Given the description of an element on the screen output the (x, y) to click on. 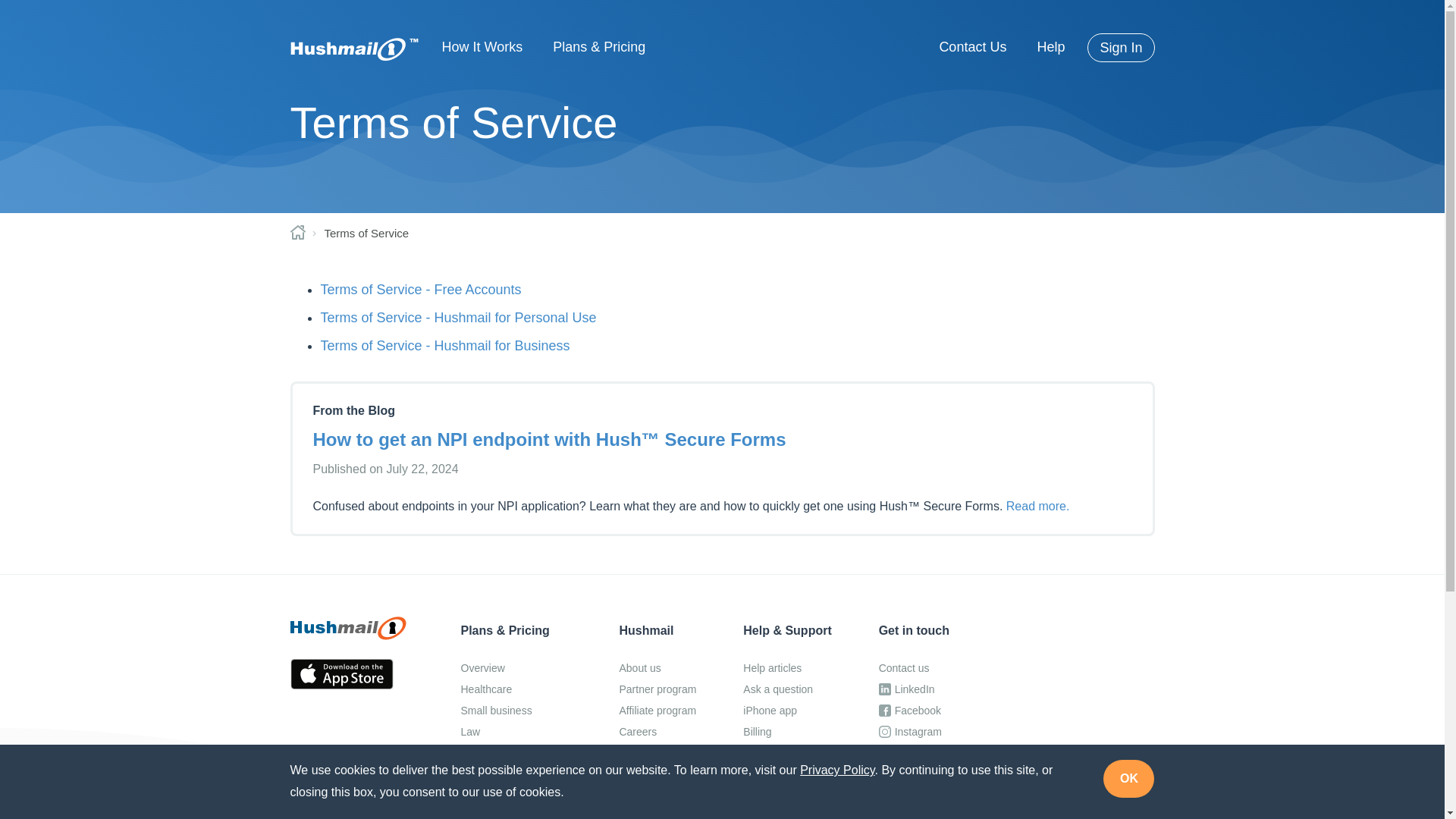
Terms of Service (366, 232)
Home (296, 232)
Billing (786, 731)
Overview (516, 668)
Home (354, 48)
Blog (656, 814)
Careers (656, 731)
Help (1050, 46)
Hushmail (347, 627)
Ask a question (786, 689)
